Given the description of an element on the screen output the (x, y) to click on. 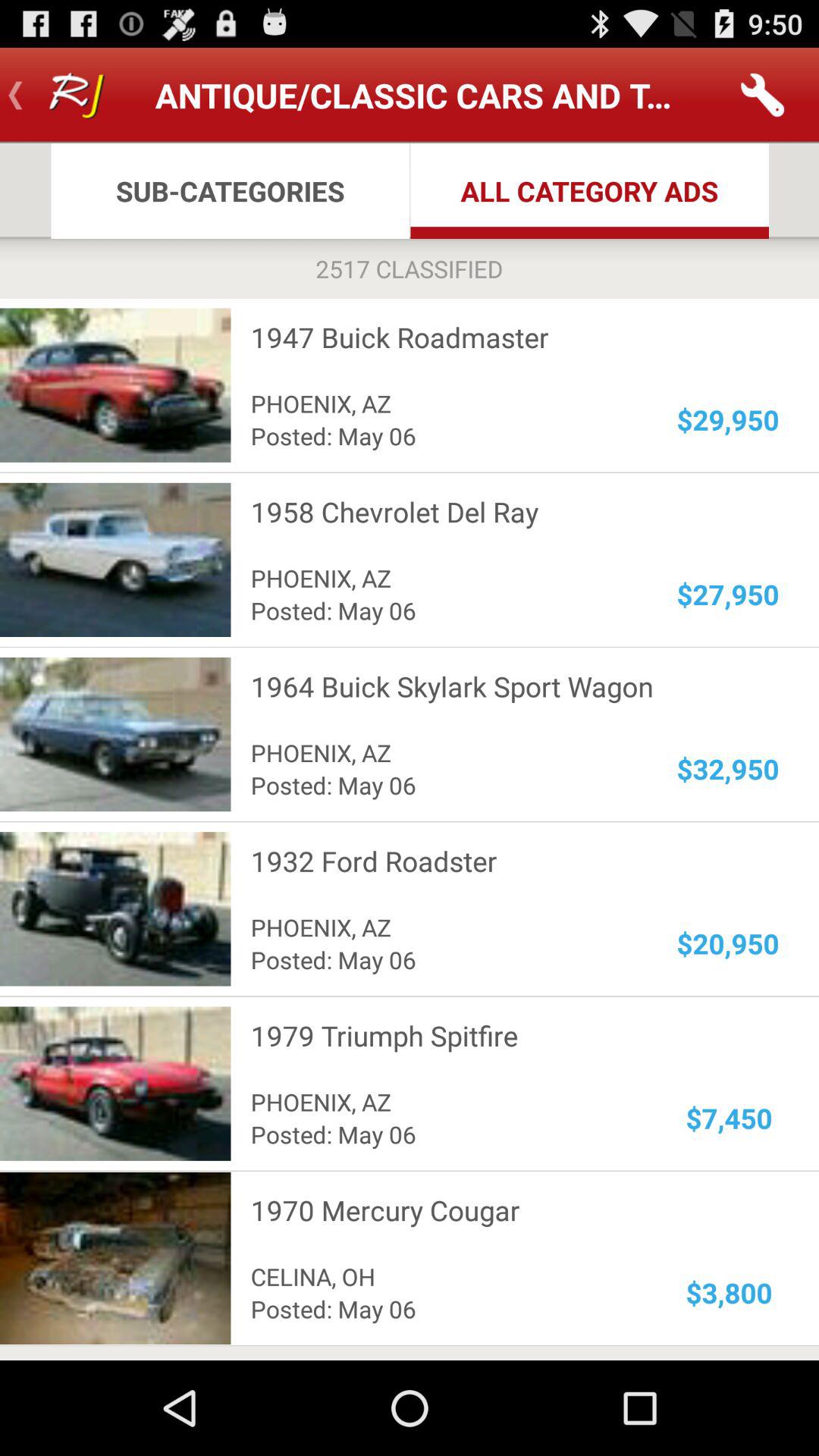
choose the app below 2517 classified app (504, 337)
